Given the description of an element on the screen output the (x, y) to click on. 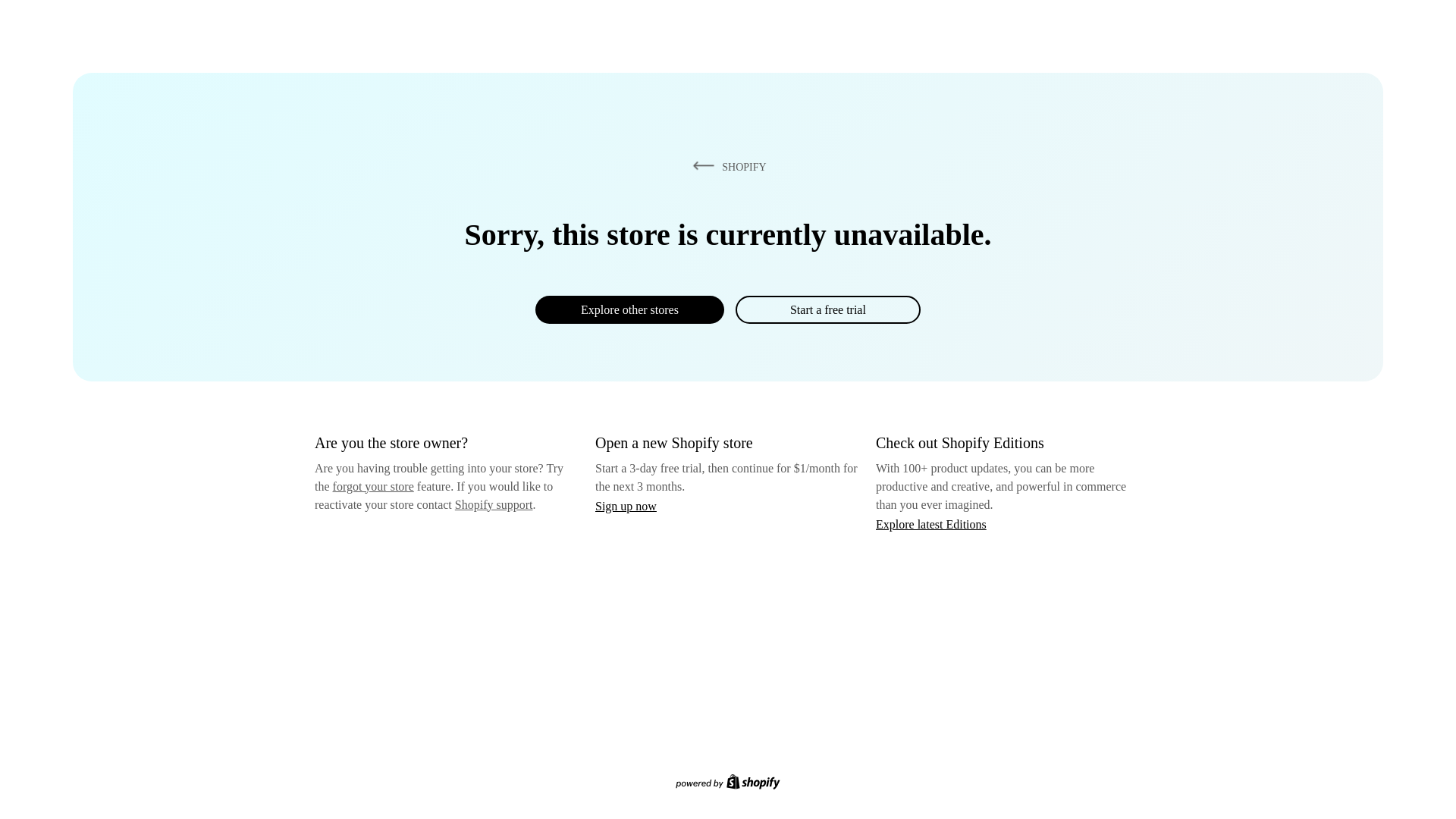
SHOPIFY (726, 166)
Sign up now (625, 505)
Explore other stores (629, 309)
Explore latest Editions (931, 523)
Shopify support (493, 504)
forgot your store (373, 486)
Start a free trial (827, 309)
